Given the description of an element on the screen output the (x, y) to click on. 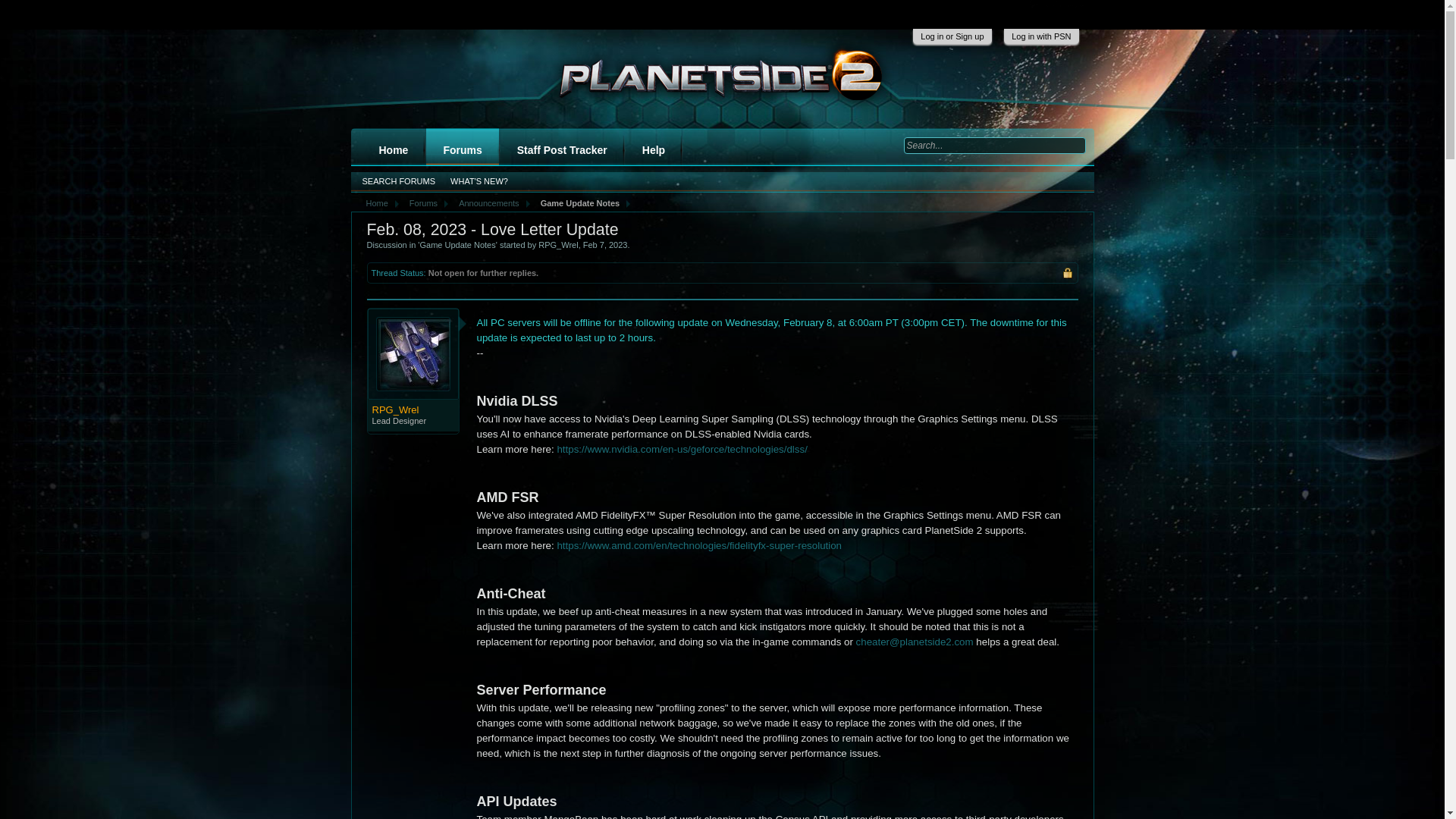
WHAT'S NEW? (478, 181)
Announcements (486, 203)
SEARCH FORUMS (399, 181)
Feb 7, 2023 at 2:42 PM (605, 244)
Home (393, 149)
Enter your search and hit enter (995, 145)
Feb 7, 2023 (605, 244)
Log in with PSN (1040, 35)
Forums (420, 203)
Staff Post Tracker (562, 149)
Game Update Notes (577, 203)
Game Update Notes (457, 244)
Home (376, 203)
Forums (461, 148)
Help (653, 149)
